Given the description of an element on the screen output the (x, y) to click on. 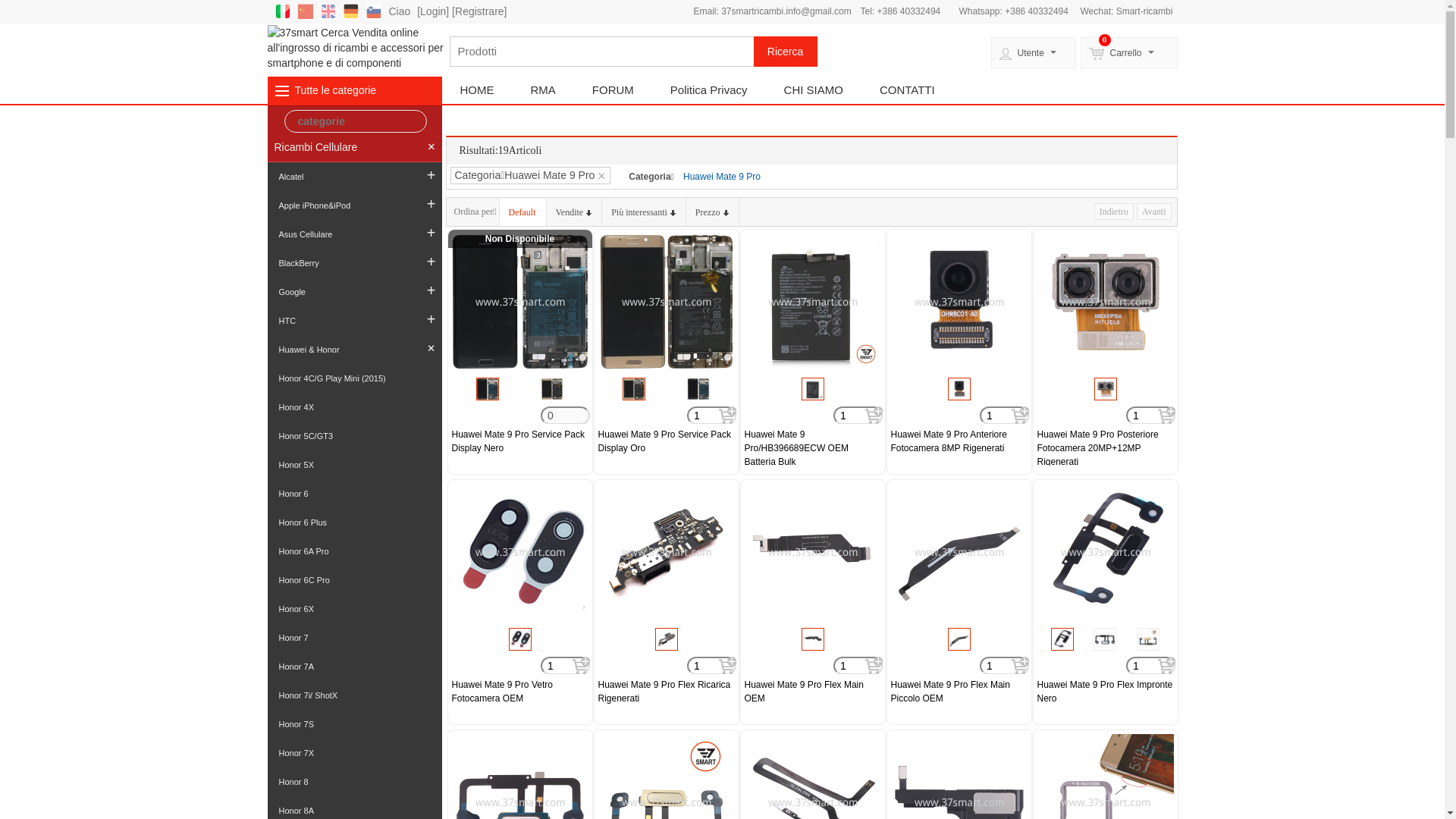
English Element type: hover (327, 10)
Honor 5X Element type: text (353, 464)
Huawei Mate 9 Pro Flex Impronte Nero Element type: text (1105, 691)
Aggiungi Element type: hover (1165, 414)
Honor 7i/ ShotX Element type: text (353, 694)
Aggiungi Element type: hover (1020, 414)
CONTATTI Element type: text (907, 89)
Honor 7 Element type: text (353, 637)
Asus Cellulare
+ Element type: text (353, 233)
Ricambi Cellulare
+ Element type: text (353, 147)
CHI SIAMO Element type: text (813, 89)
Deutschland Element type: hover (350, 10)
Huawei & Honor
+ Element type: text (353, 349)
Aggiungi Element type: hover (727, 665)
Huawei Mate 9 Pro Service Pack Display Nero Element type: text (519, 441)
Carrello Element type: text (1127, 53)
Aggiungi Element type: hover (727, 414)
Honor 8 Element type: text (353, 781)
Honor 6C Pro Element type: text (353, 579)
Italiano Element type: hover (281, 10)
Huawei Mate 9 Pro/HB396689ECW OEM Batteria Bulk Element type: text (812, 446)
VenditeVenditeSequenza Element type: text (574, 211)
Apple iPhone&iPod
+ Element type: text (353, 205)
Honor 6 Element type: text (353, 493)
HOME Element type: text (293, 120)
Huawei Mate 9 Pro Element type: text (721, 176)
Tutte le categorie Element type: text (335, 89)
Honor 6A Pro Element type: text (353, 550)
37smartricambi.info@gmail.com Element type: text (786, 11)
Cronologia Element type: text (354, 461)
Default Element type: text (522, 211)
Huawei Mate 9 Pro Vetro Fotocamera OEM Element type: text (519, 691)
Aggiungi Element type: hover (1020, 665)
Huawei Mate 9 Pro Anteriore Fotocamera 8MP Rigenerati Element type: text (958, 441)
PrezzoPrezzoSequenza Element type: text (712, 211)
Honor 7S Element type: text (353, 723)
Huawei Mate 9 Pro Flex Main OEM Element type: text (812, 691)
HTC
+ Element type: text (353, 320)
Honor 5C/GT3 Element type: text (353, 435)
Aggiungi Element type: hover (872, 665)
Honor 4C/G Play Mini (2015) Element type: text (353, 378)
Huawei Mate 9 Pro Flex Main Piccolo OEM Element type: text (958, 691)
HOME Element type: text (476, 89)
Honor 7A Element type: text (353, 666)
Aggiungi Element type: hover (580, 665)
Honor 6 Plus Element type: text (353, 522)
Huawei Mate 9 Pro Posteriore Fotocamera 20MP+12MP Rigenerati Element type: text (1105, 446)
Honor 6X Element type: text (353, 608)
Honor 4X Element type: text (353, 406)
Google
+ Element type: text (353, 291)
RMA Element type: text (543, 89)
Aggiungi Element type: hover (872, 414)
Login Element type: text (432, 11)
Huawei Mate 9 Pro Flex Ricarica Rigenerati Element type: text (665, 691)
Alcatel
+ Element type: text (353, 176)
Politica Privacy Element type: text (708, 89)
FORUM Element type: text (613, 89)
Honor 7X Element type: text (353, 752)
Ricerca Element type: text (785, 51)
BlackBerry
+ Element type: text (353, 262)
Aggiungi Element type: hover (1165, 665)
Registrare Element type: text (479, 11)
Slovenija Element type: hover (372, 10)
Huawei Mate 9 Pro Service Pack Display Oro Element type: text (665, 441)
